Given the description of an element on the screen output the (x, y) to click on. 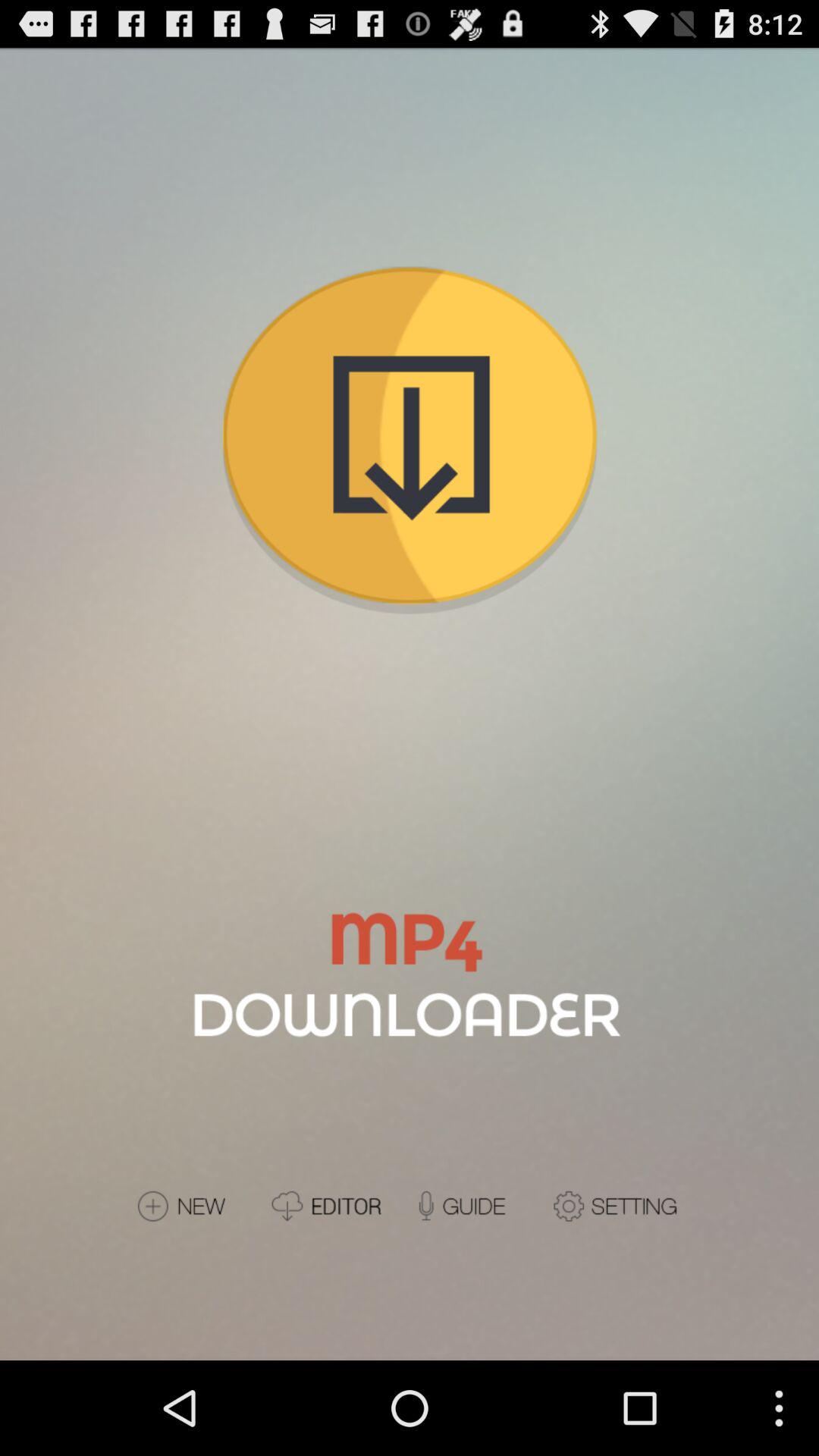
editor (334, 1206)
